Given the description of an element on the screen output the (x, y) to click on. 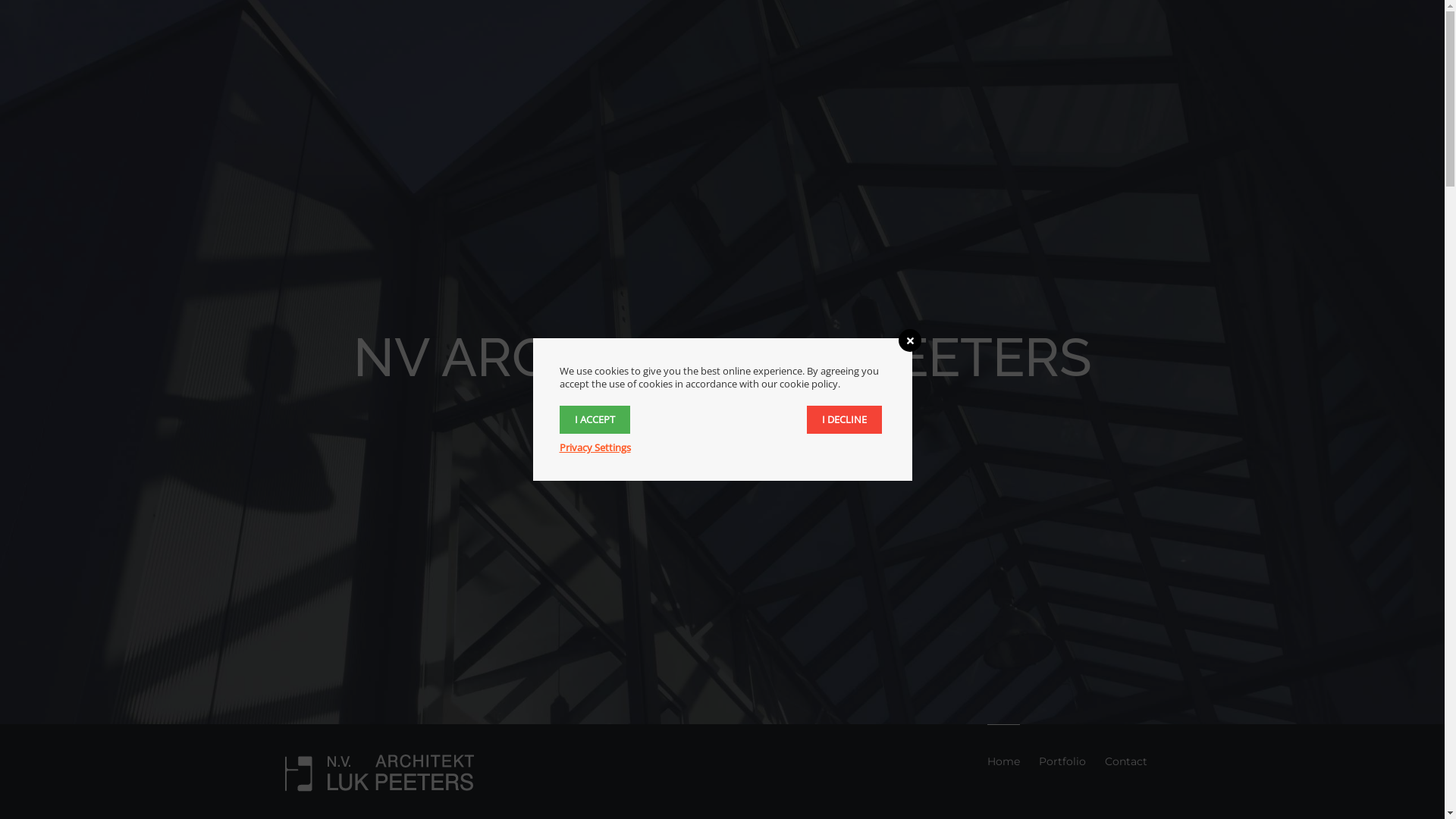
Home Element type: text (1003, 760)
I ACCEPT Element type: text (594, 419)
Contact Element type: text (1125, 760)
Portfolio Element type: text (1061, 760)
Privacy Settings Element type: text (594, 447)
I DECLINE Element type: text (843, 419)
